Given the description of an element on the screen output the (x, y) to click on. 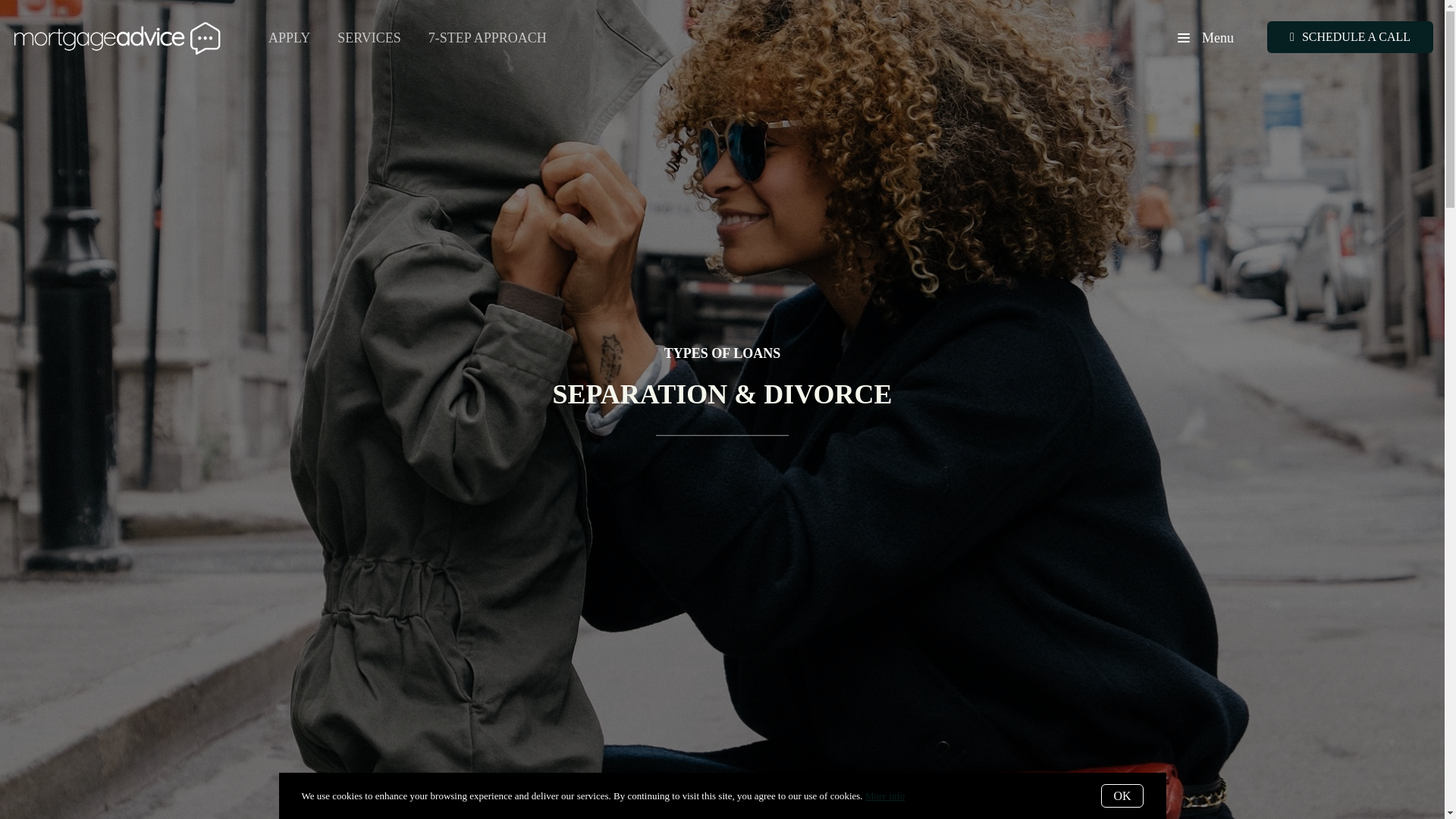
APPLY (289, 37)
SCHEDULE A CALL (1349, 37)
7-STEP APPROACH (487, 37)
SERVICES (368, 37)
Menu (1205, 37)
